Given the description of an element on the screen output the (x, y) to click on. 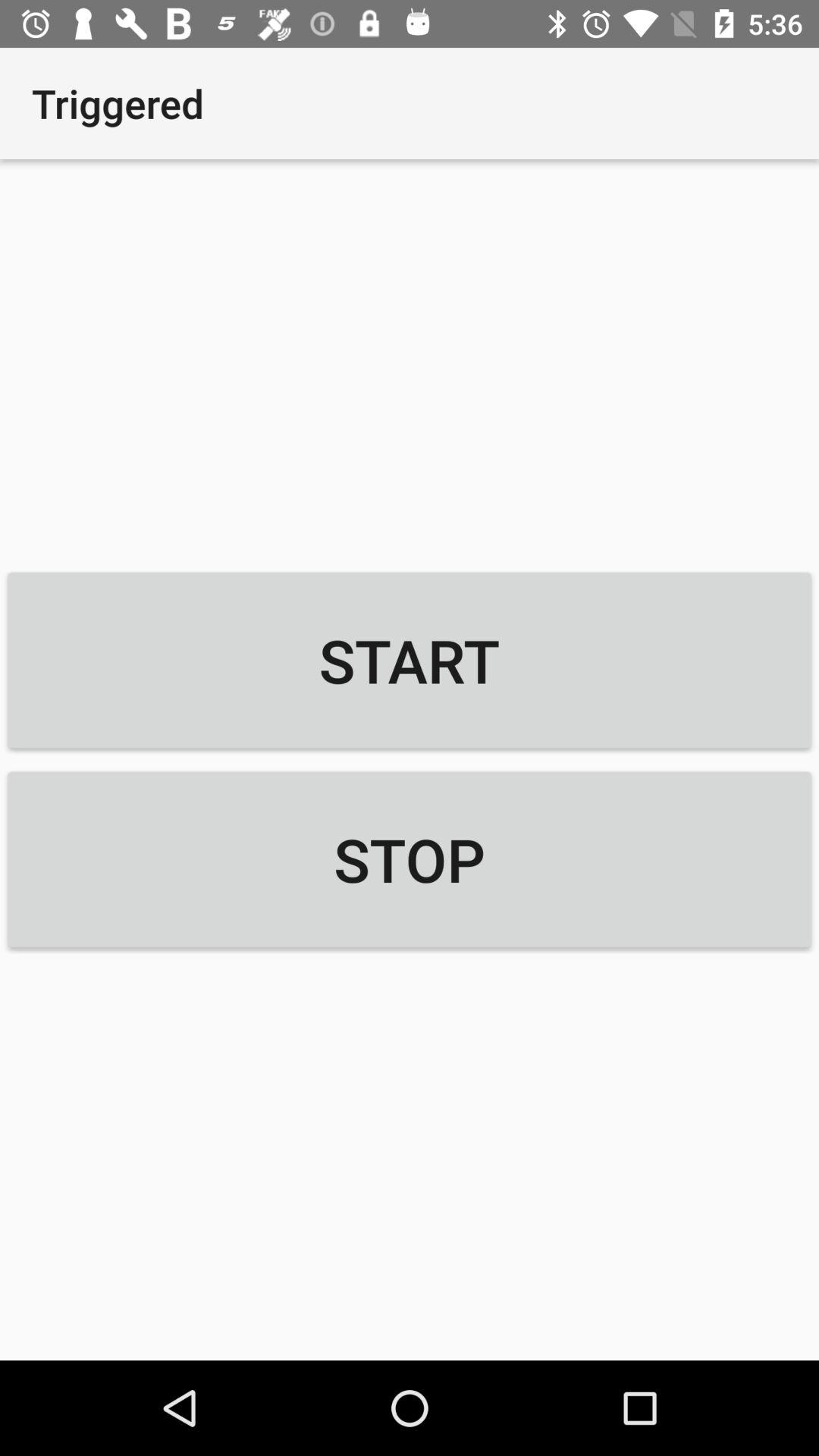
jump to the stop (409, 858)
